Given the description of an element on the screen output the (x, y) to click on. 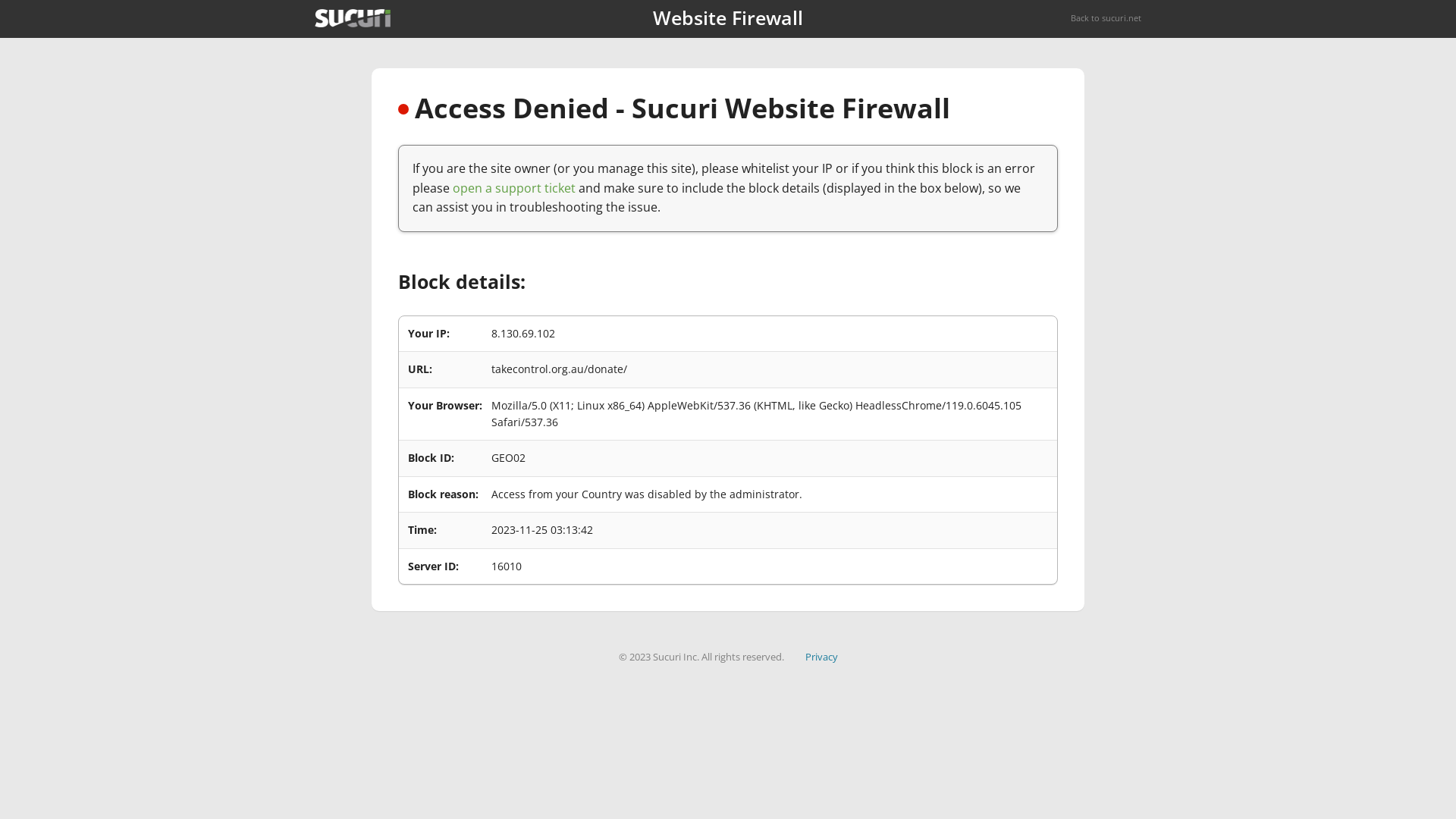
Privacy Element type: text (821, 656)
open a support ticket Element type: text (513, 187)
Back to sucuri.net Element type: text (1105, 18)
